Given the description of an element on the screen output the (x, y) to click on. 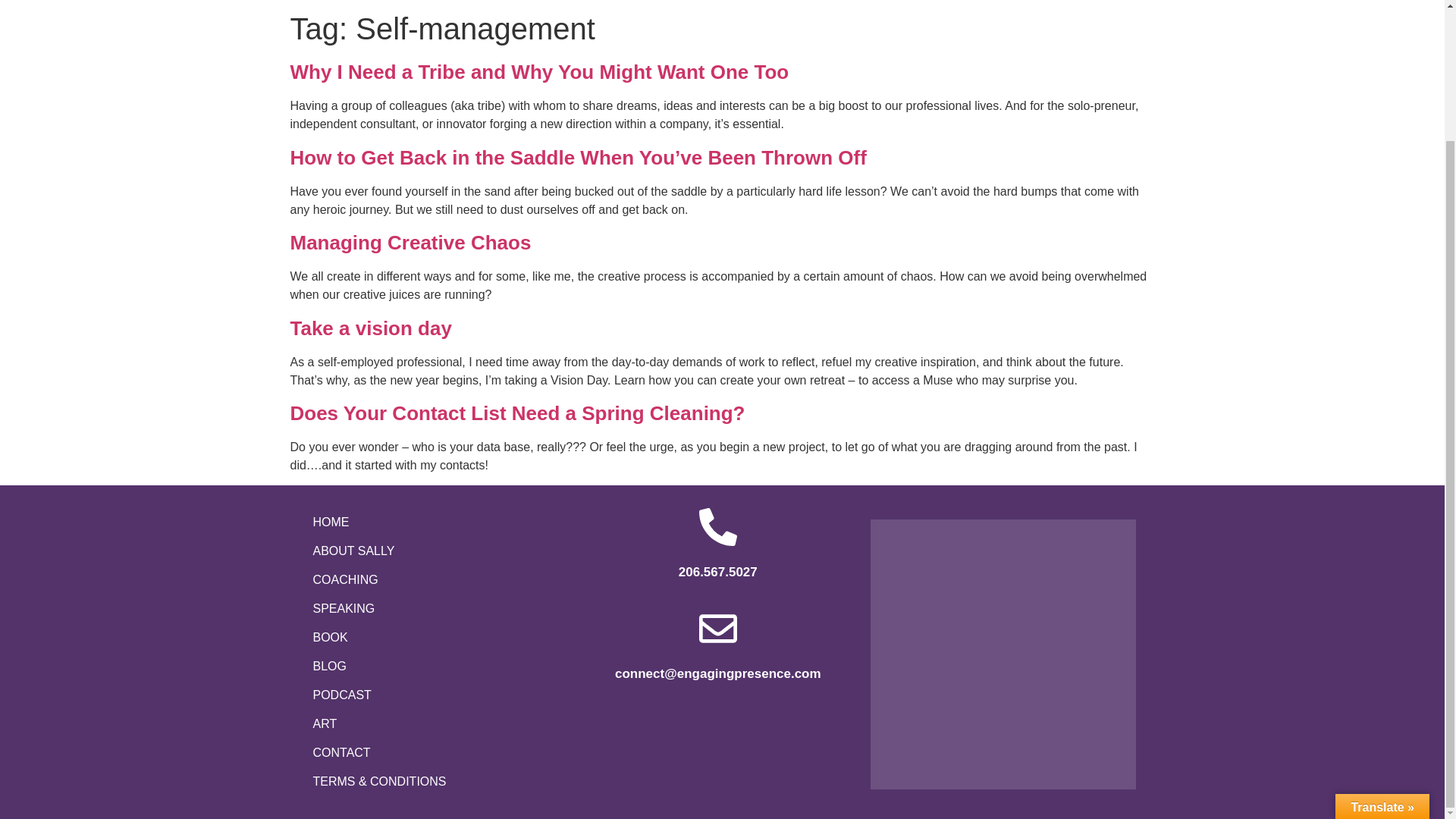
HOME (432, 522)
ART (432, 724)
Why I Need a Tribe and Why You Might Want One Too (539, 71)
Does Your Contact List Need a Spring Cleaning? (516, 413)
BOOK (432, 637)
Take a vision day (370, 327)
CONTACT (432, 752)
SPEAKING (432, 608)
COACHING (432, 579)
PODCAST (432, 695)
